Given the description of an element on the screen output the (x, y) to click on. 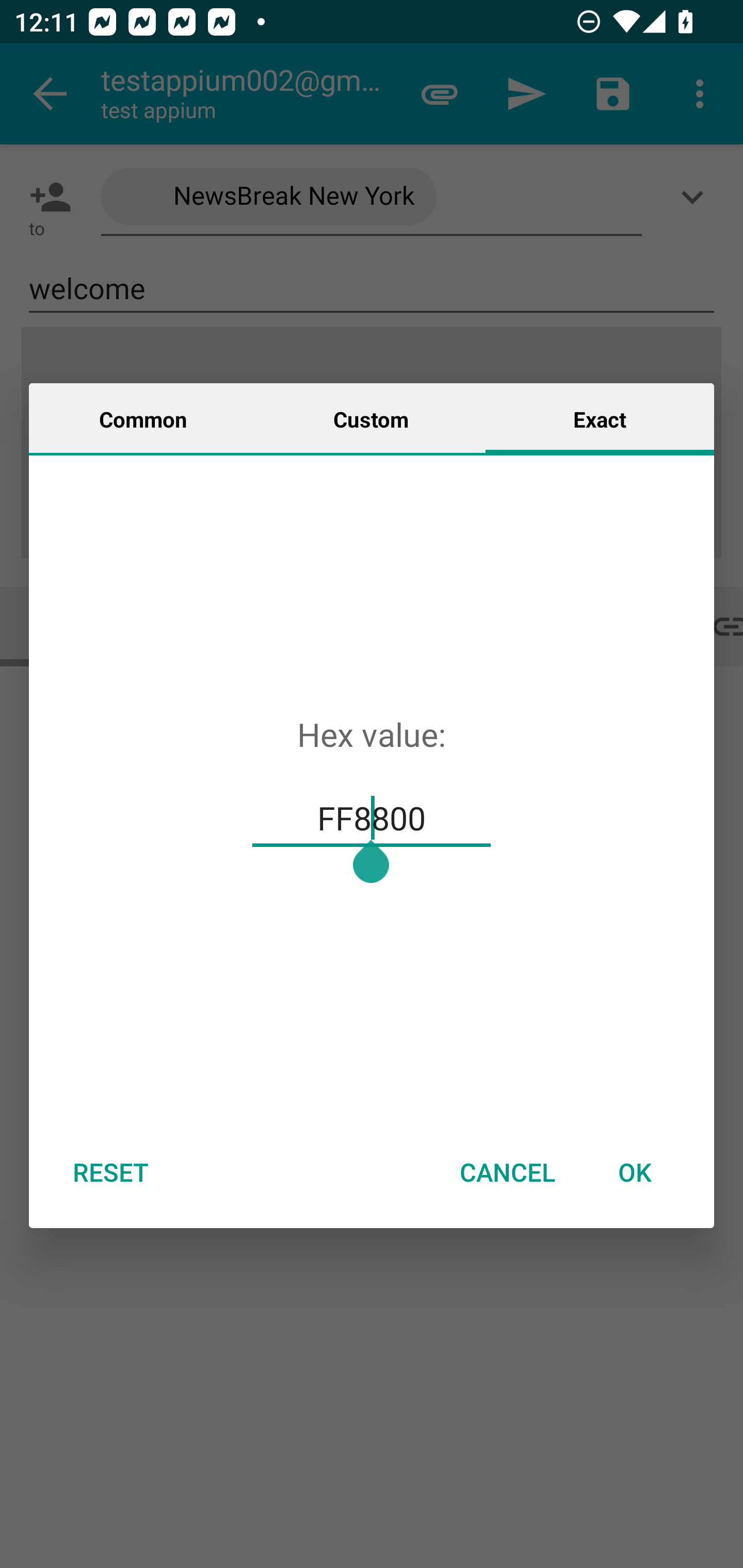
Common (142, 418)
Custom (371, 418)
Exact (599, 418)
FF8800 (371, 818)
RESET (110, 1171)
CANCEL (507, 1171)
OK (634, 1171)
